Given the description of an element on the screen output the (x, y) to click on. 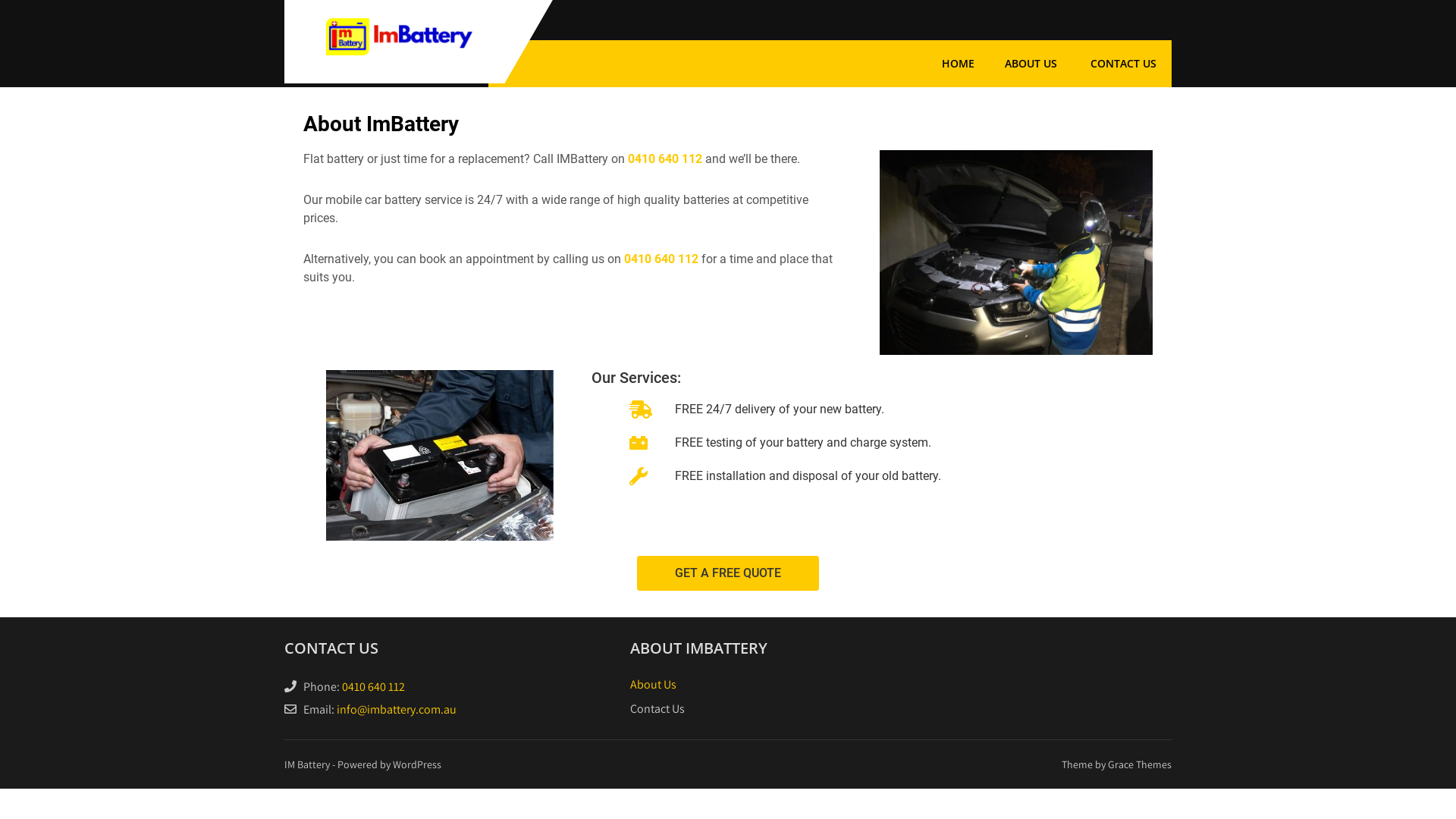
GET A FREE QUOTE Element type: text (728, 572)
0410 640 112 Element type: text (661, 258)
IM Battery Element type: text (398, 74)
0410 640 112 Element type: text (664, 158)
ABOUT US Element type: text (1030, 63)
CONTACT US Element type: text (1123, 63)
info@imbattery.com.au Element type: text (396, 709)
About Us Element type: text (653, 684)
0410 640 112 Element type: text (373, 686)
HOME Element type: text (957, 63)
Contact Us Element type: text (657, 708)
